Given the description of an element on the screen output the (x, y) to click on. 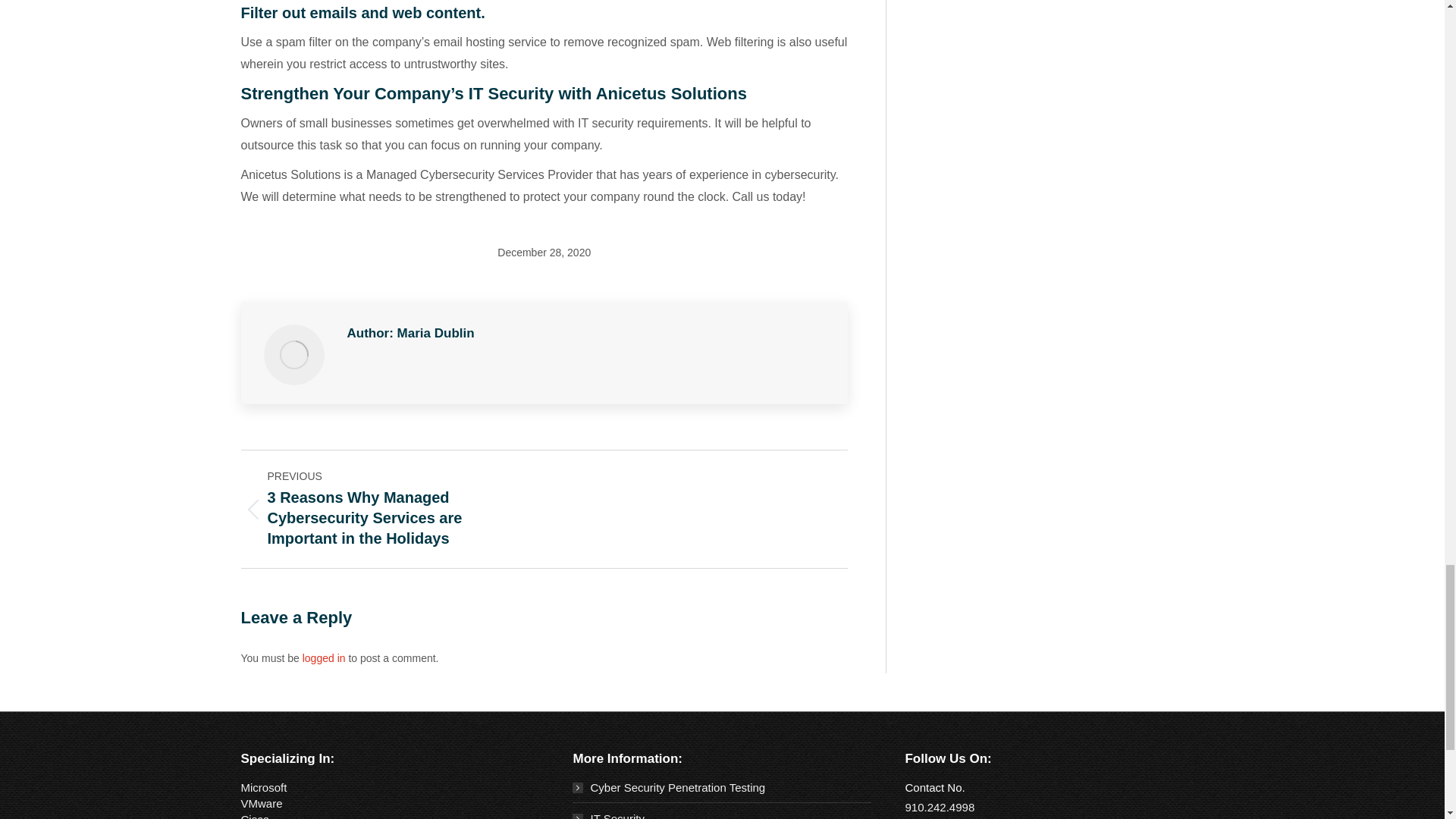
3:45 pm (544, 252)
